Given the description of an element on the screen output the (x, y) to click on. 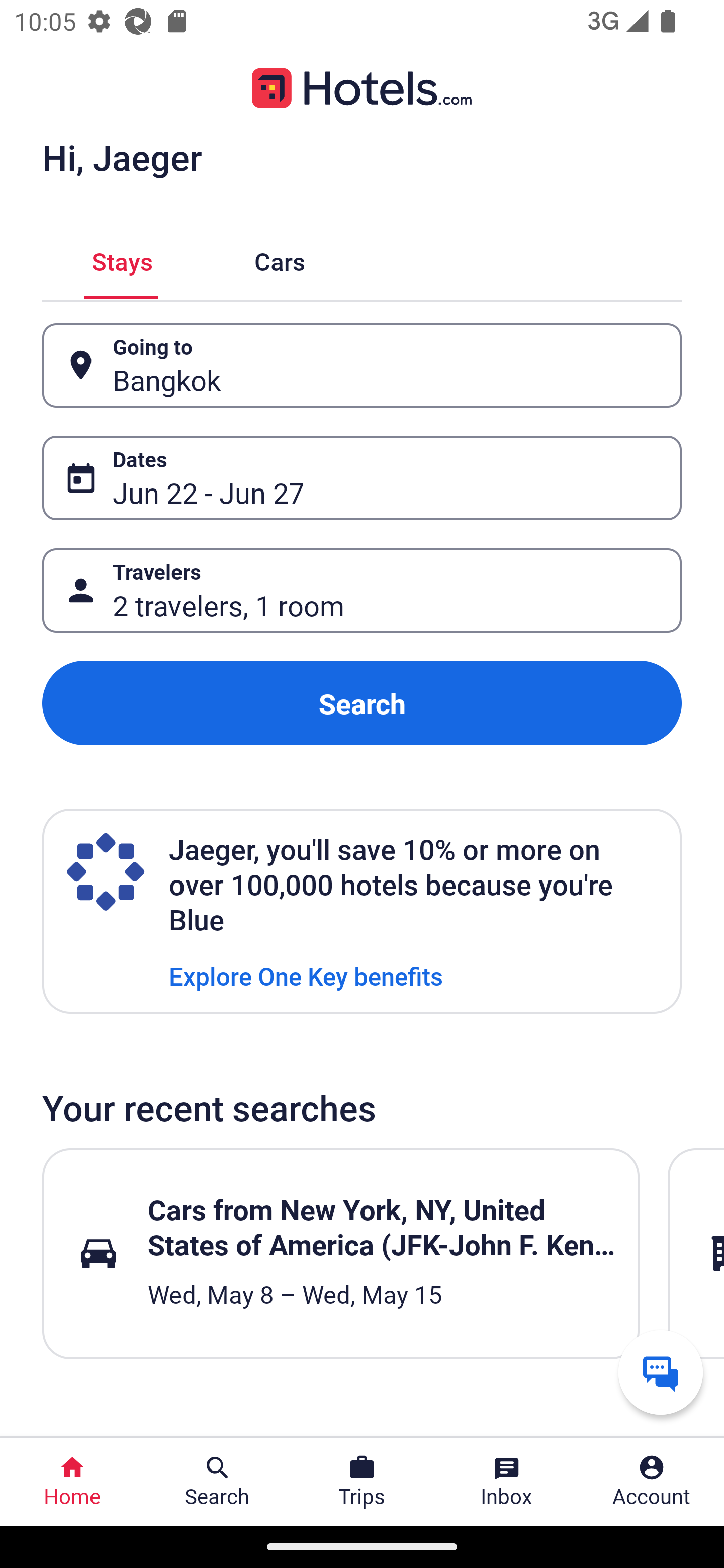
Hi, Jaeger (121, 156)
Cars (279, 259)
Going to Button Bangkok (361, 365)
Dates Button Jun 22 - Jun 27 (361, 477)
Travelers Button 2 travelers, 1 room (361, 590)
Search (361, 702)
Get help from a virtual agent (660, 1371)
Search Search Button (216, 1481)
Trips Trips Button (361, 1481)
Inbox Inbox Button (506, 1481)
Account Profile. Button (651, 1481)
